Given the description of an element on the screen output the (x, y) to click on. 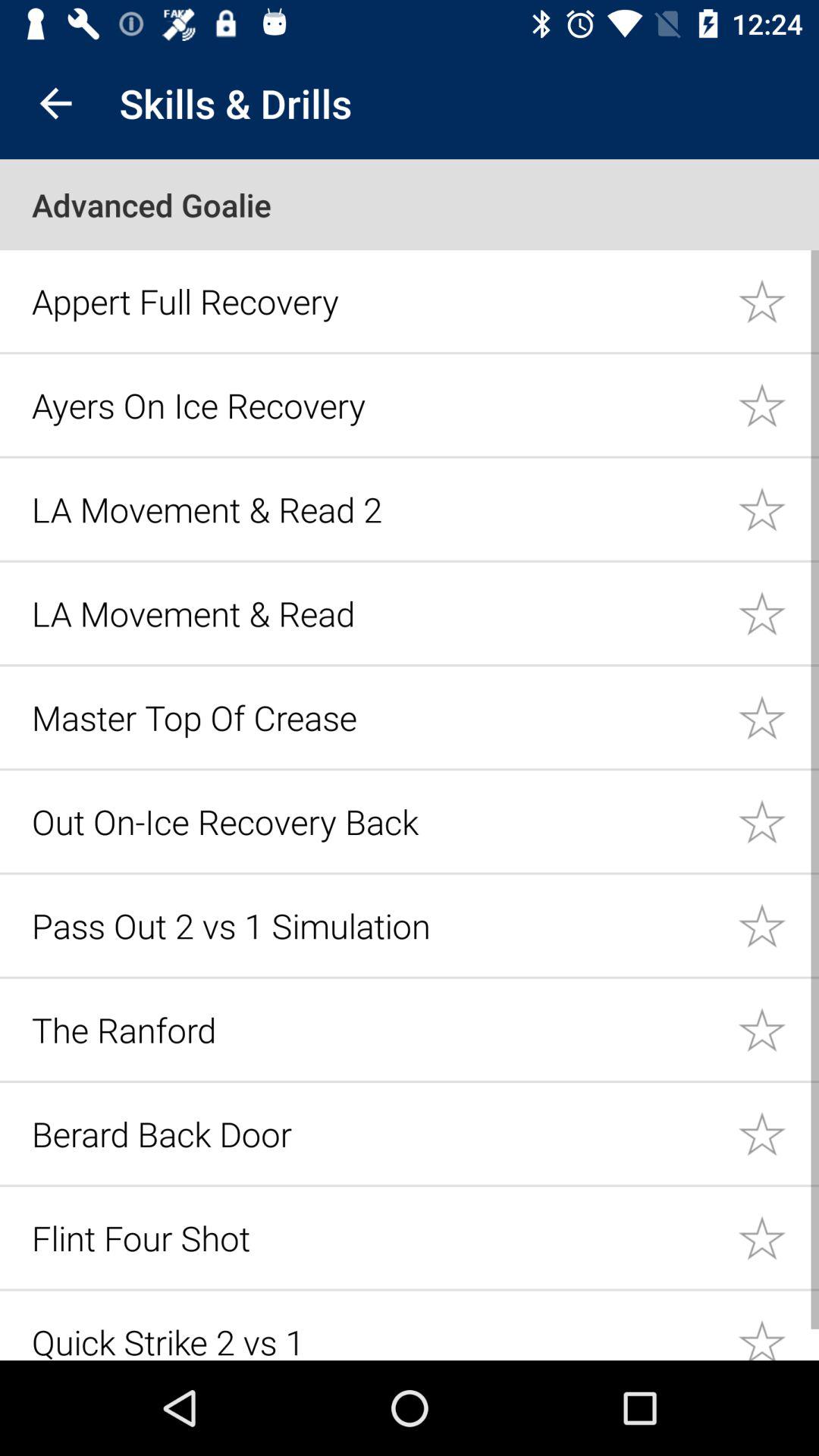
click to favorite this page (778, 508)
